Given the description of an element on the screen output the (x, y) to click on. 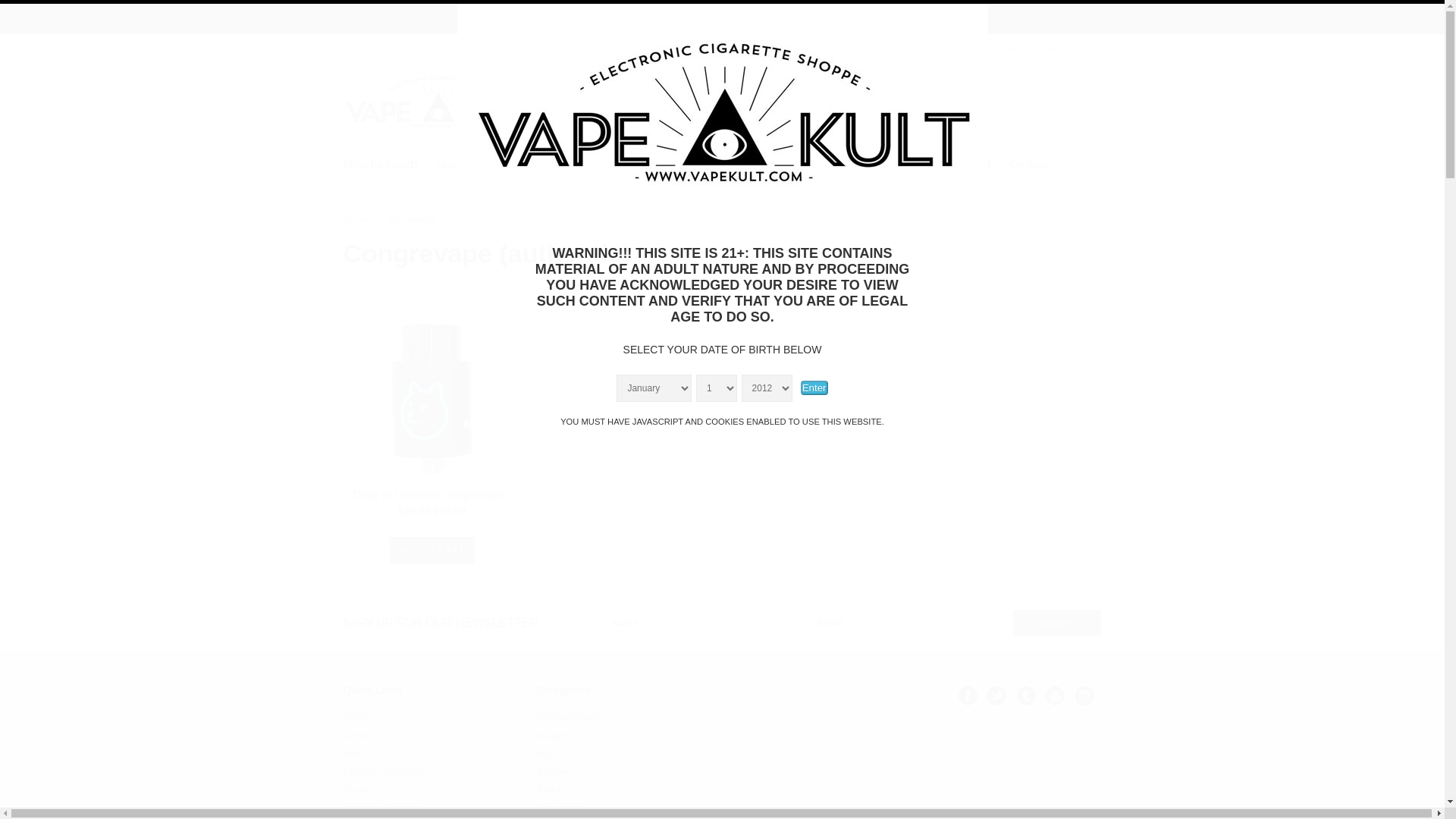
Search (986, 85)
Submit (1056, 622)
Tumblr (1025, 695)
Search (1081, 85)
Email (901, 622)
Add To Cart (432, 550)
Enter (814, 387)
Instagram (1084, 695)
Name (695, 622)
View Cart (1091, 48)
YouTube (1054, 695)
Facebook (967, 695)
Twitter (996, 695)
